Given the description of an element on the screen output the (x, y) to click on. 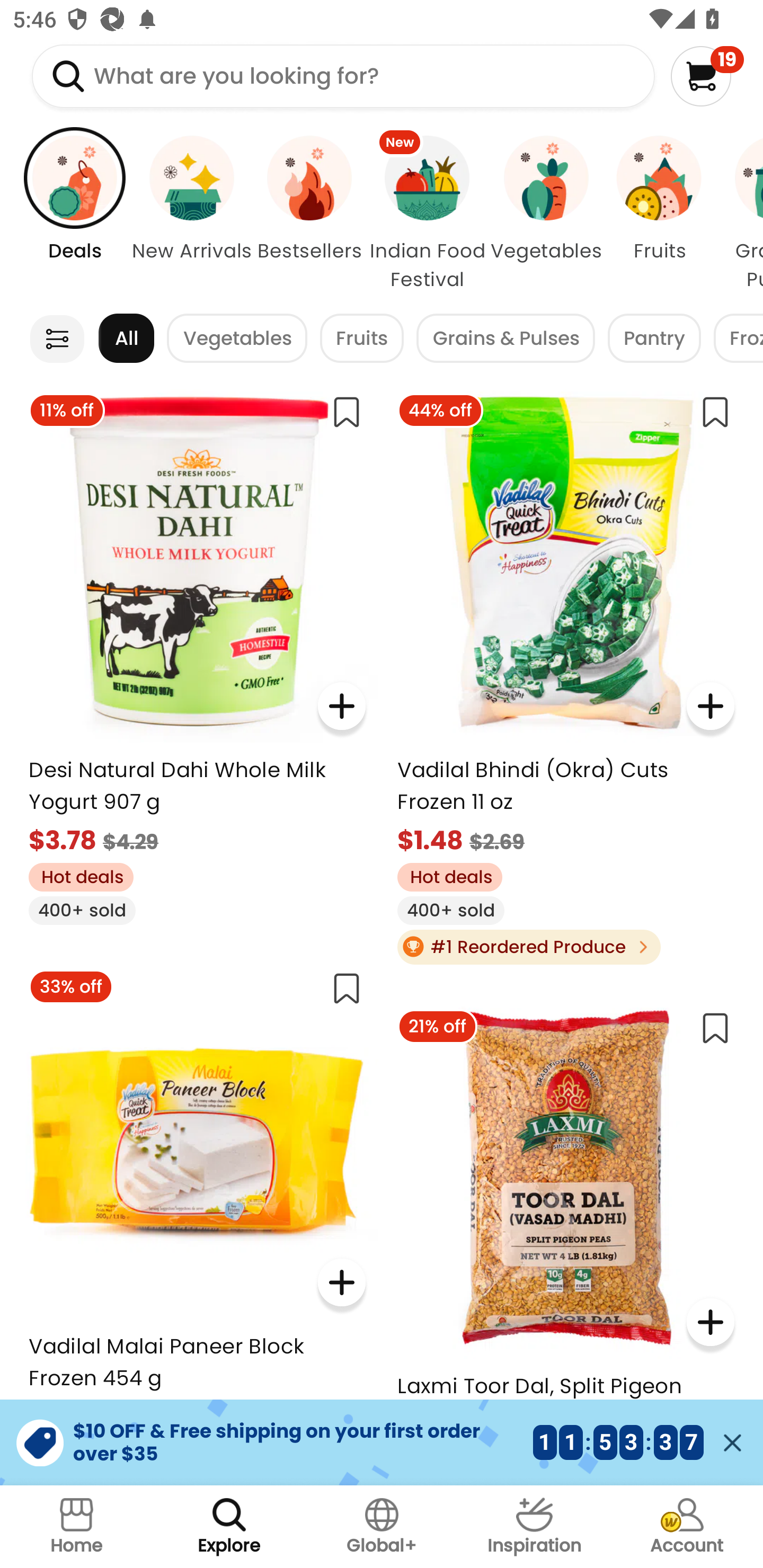
What are you looking for? (343, 75)
19 (706, 75)
Deals (65, 214)
New Arrivals (192, 214)
Bestsellers (309, 214)
New Indian Food Festival (426, 214)
Vegetables (546, 214)
Fruits (659, 214)
All (126, 337)
Vegetables (237, 337)
Fruits (361, 337)
Grains & Pulses (505, 337)
Pantry (654, 337)
Home (76, 1526)
Explore (228, 1526)
Global+ (381, 1526)
Inspiration (533, 1526)
Account (686, 1526)
